Given the description of an element on the screen output the (x, y) to click on. 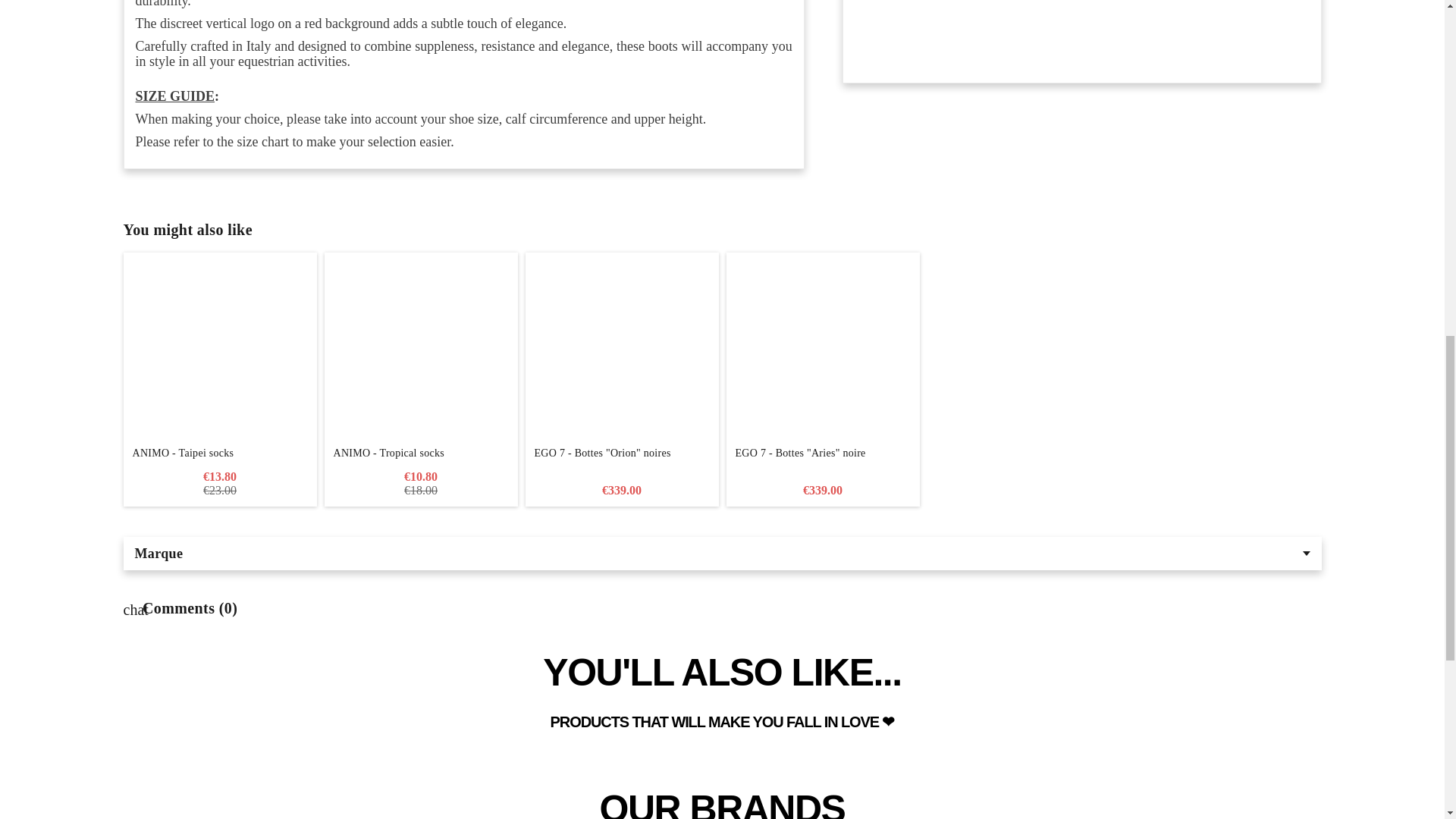
ANIMO - Tropical socks (421, 453)
EGO 7 - Bottes "Orion" noires (620, 348)
ANIMO - Taipei socks (218, 453)
EGO 7 - Bottes "Orion" noires (620, 460)
ANIMO - Tropical socks (421, 348)
EGO 7 - Bottes "Aries" noire (823, 348)
YouTube video player (1081, 26)
EGO 7 - Bottes "Aries" noire (823, 460)
ANIMO - Taipei socks (218, 348)
